Given the description of an element on the screen output the (x, y) to click on. 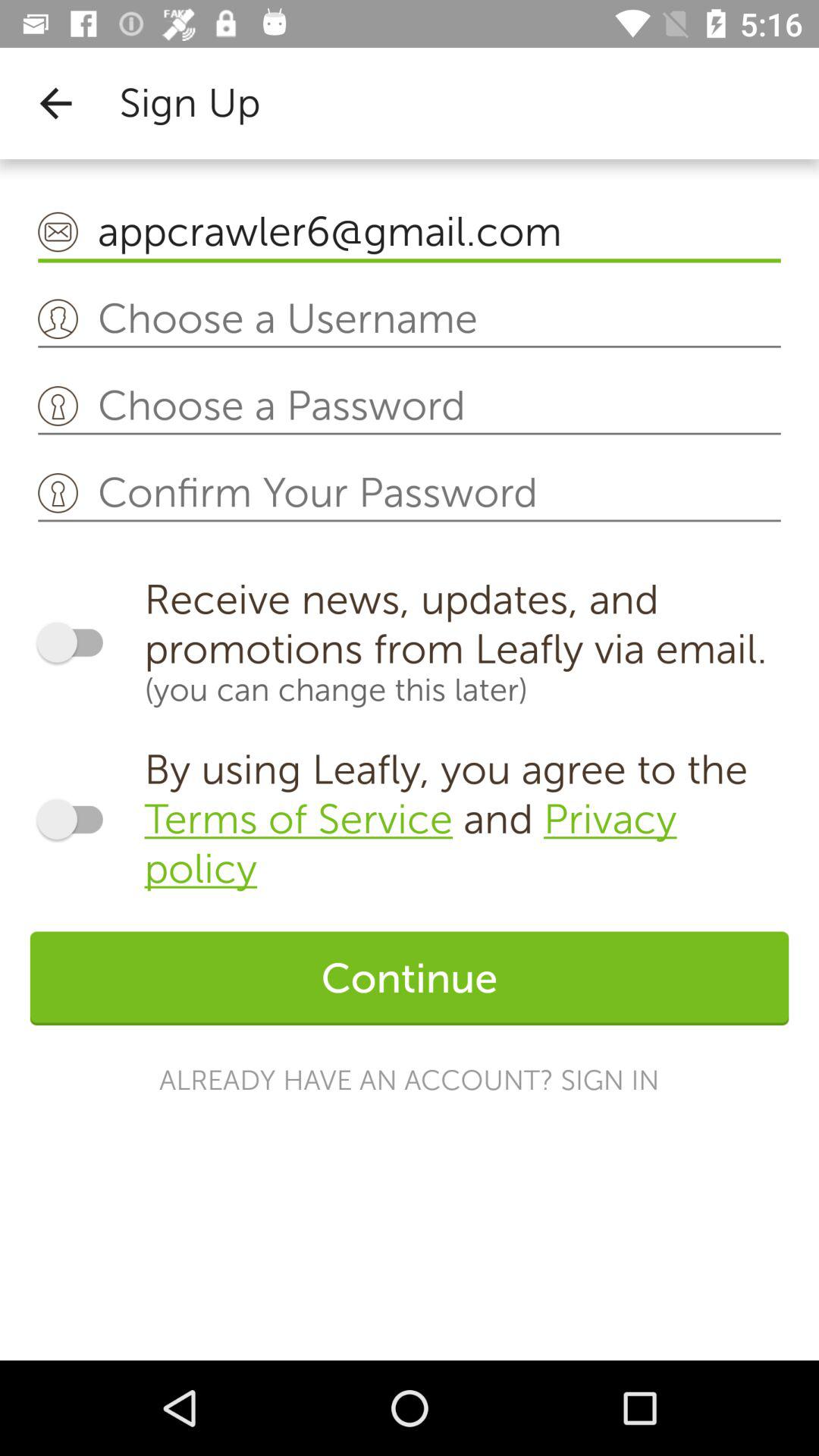
launch the icon above already have an icon (409, 978)
